Given the description of an element on the screen output the (x, y) to click on. 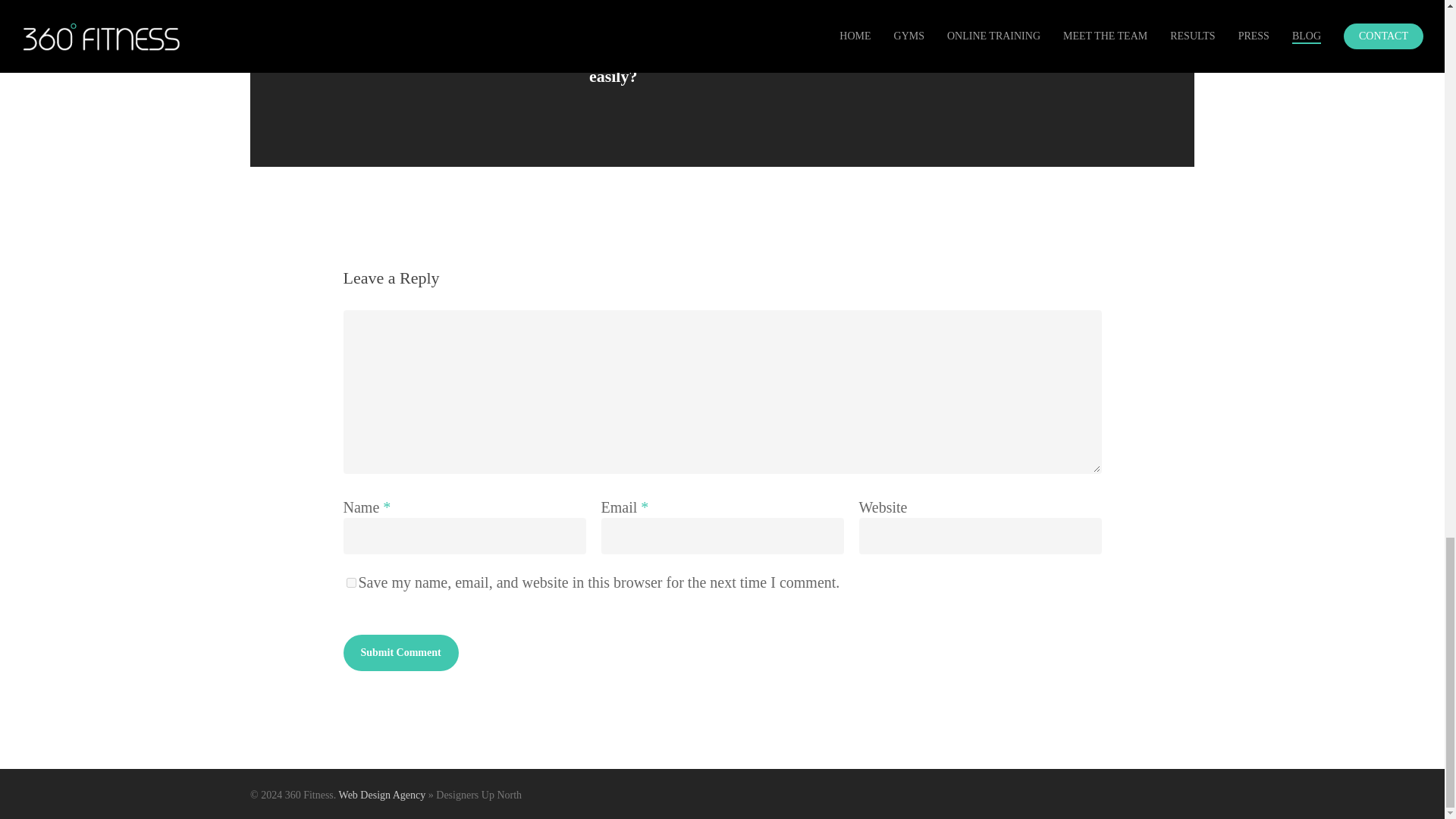
Web Design Agency (382, 794)
yes (350, 583)
Submit Comment (400, 652)
Submit Comment (400, 652)
